Given the description of an element on the screen output the (x, y) to click on. 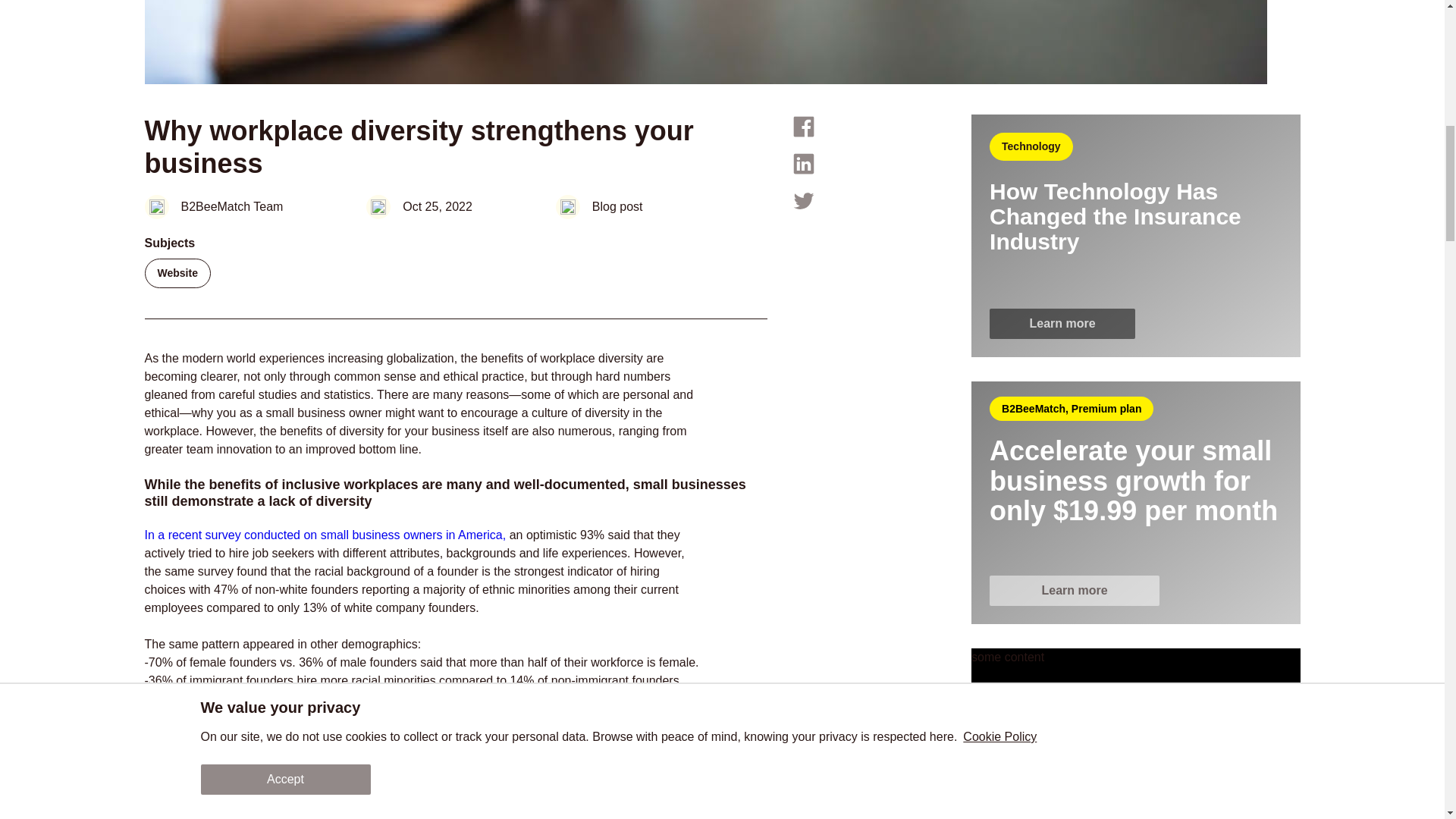
Learn more (1074, 590)
some content (1135, 733)
Learn more (1062, 323)
Learn more (1135, 590)
Learn more (1061, 323)
